Given the description of an element on the screen output the (x, y) to click on. 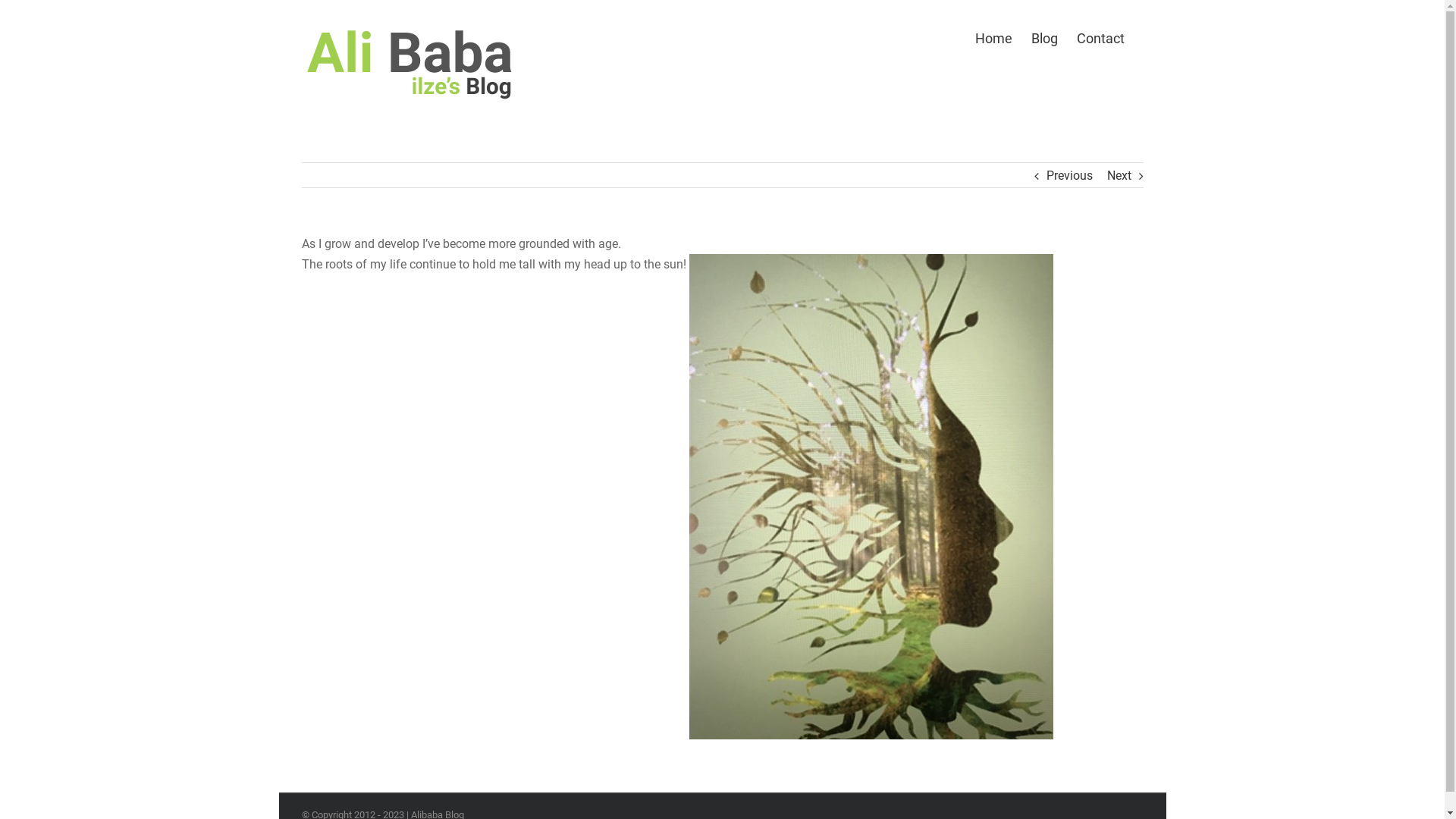
Next Element type: text (1119, 175)
Home Element type: text (993, 37)
Previous Element type: text (1069, 175)
Blog Element type: text (1044, 37)
Contact Element type: text (1100, 37)
